Given the description of an element on the screen output the (x, y) to click on. 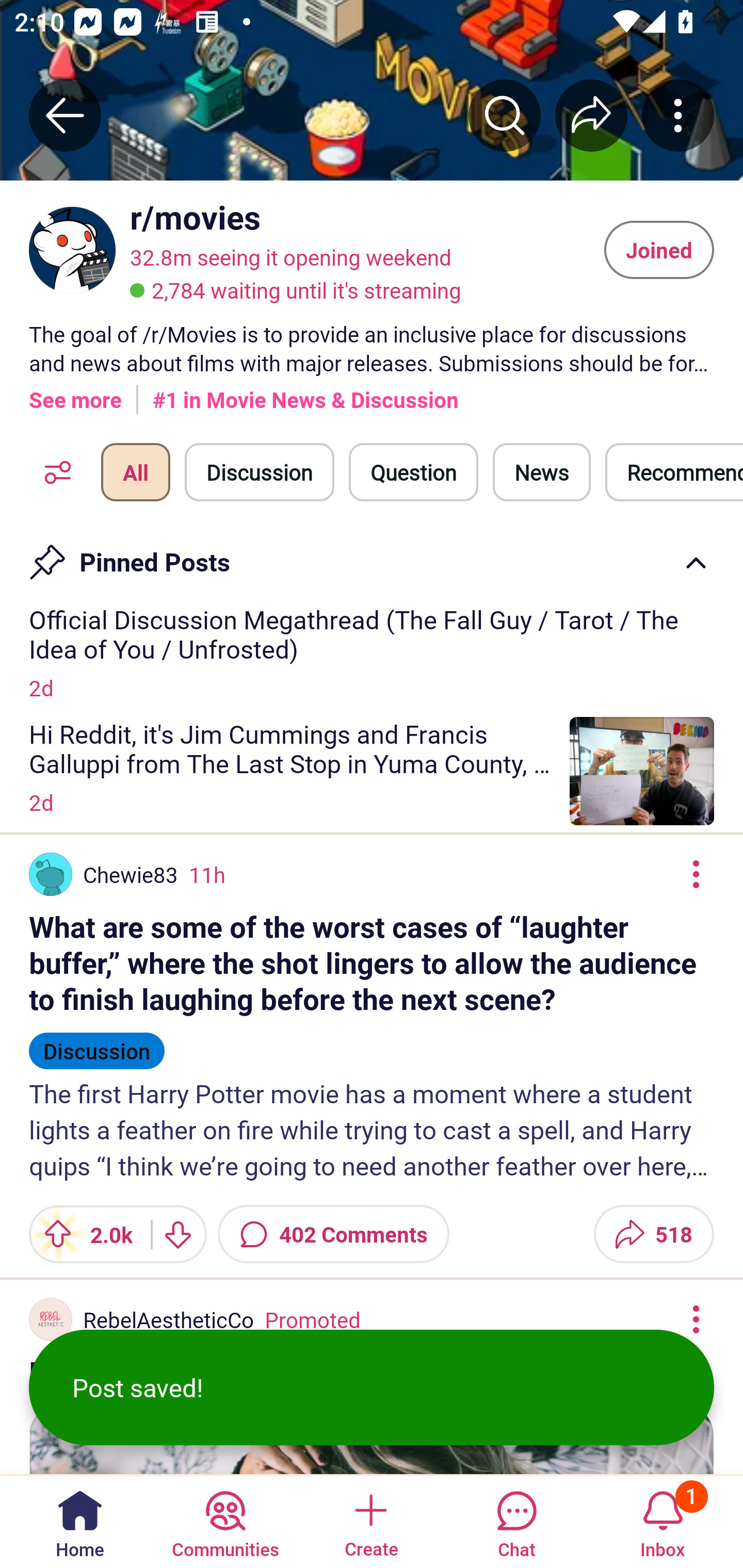
Back (64, 115)
Search r/﻿movies (504, 115)
Share r/﻿movies (591, 115)
More community actions (677, 115)
See more (74, 391)
#1 in Movie News & Discussion (305, 391)
Feed Options (53, 472)
All (135, 472)
Discussion (259, 472)
Question (413, 472)
News (541, 472)
Recommendation (674, 472)
Pin Pinned Posts Caret (371, 555)
Discussion (96, 1042)
Home (80, 1520)
Communities (225, 1520)
Create a post Create (370, 1520)
Chat (516, 1520)
Inbox, has 1 notification 1 Inbox (662, 1520)
